Given the description of an element on the screen output the (x, y) to click on. 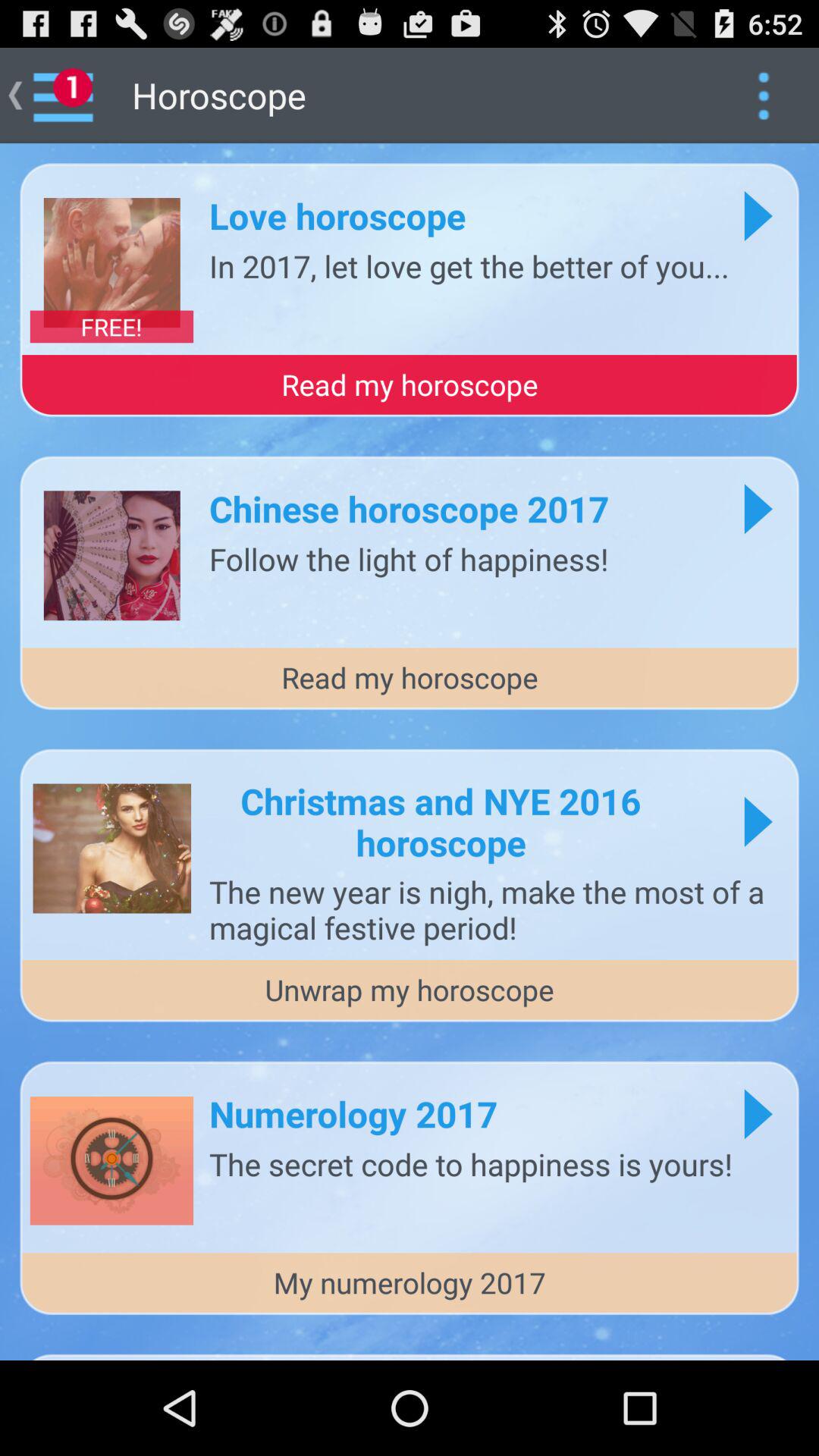
choose the follow the light icon (408, 558)
